Given the description of an element on the screen output the (x, y) to click on. 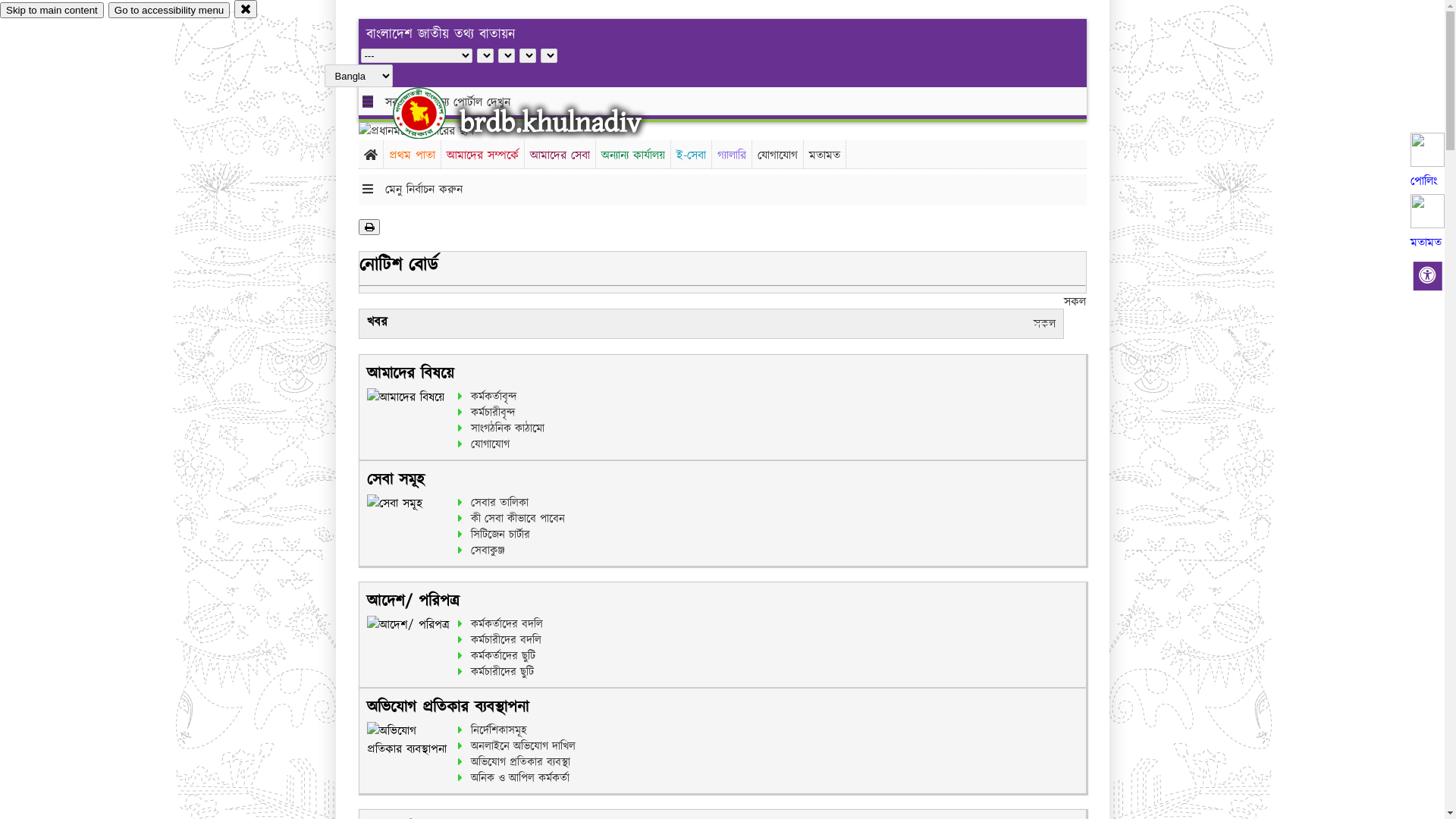
brdb.khulnadiv Element type: text (549, 123)
close Element type: hover (245, 9)
Go to accessibility menu Element type: text (168, 10)

                
             Element type: hover (431, 112)
Skip to main content Element type: text (51, 10)
